Given the description of an element on the screen output the (x, y) to click on. 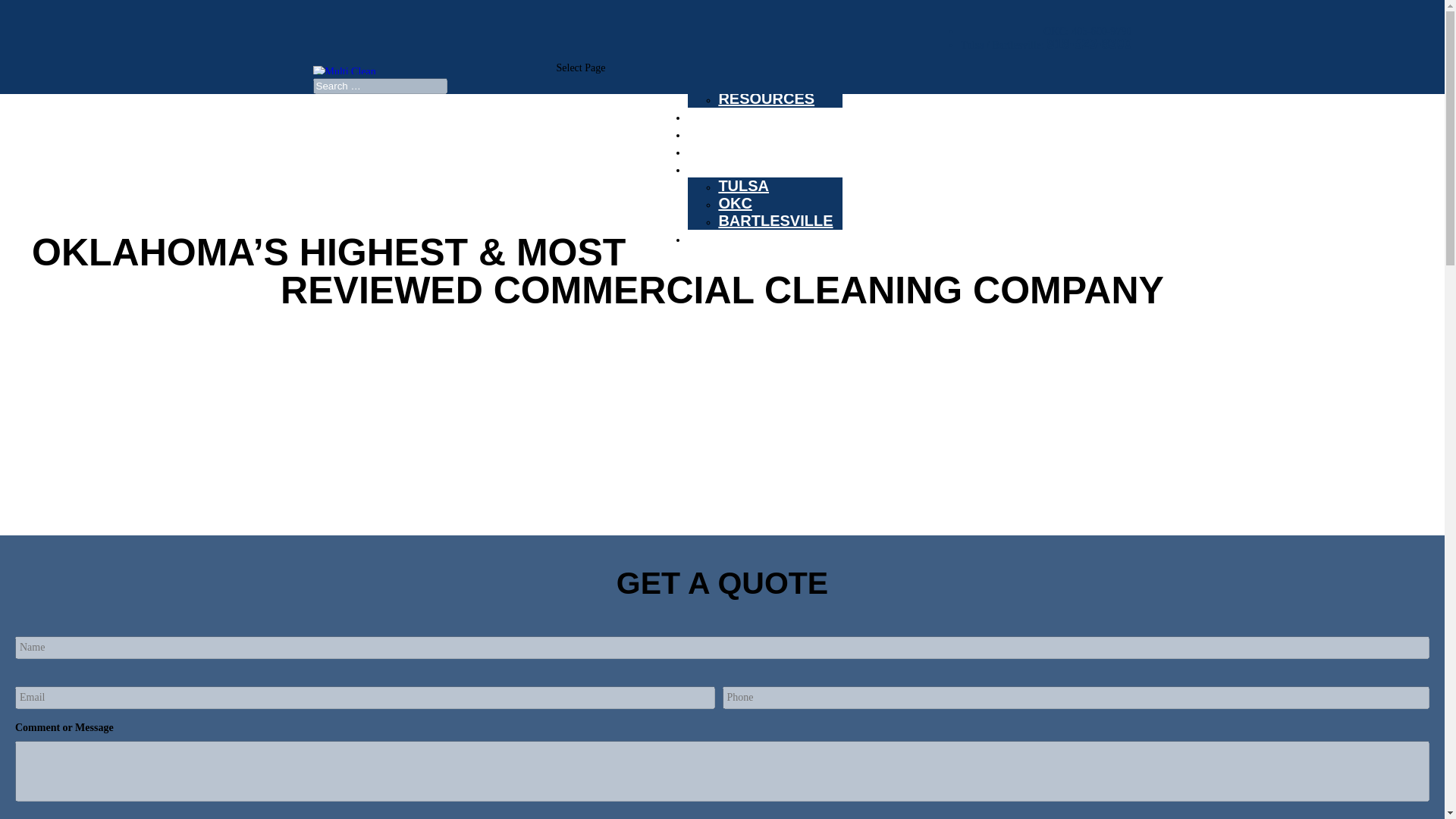
SERVICES (725, 121)
TESTIMONIALS (743, 139)
ABOUT (714, 86)
CONTACT US (736, 243)
BARTLESVILLE (774, 220)
Search for: (379, 85)
RESOURCES (765, 98)
OKC: 405-600-9790 (1087, 30)
LOCATIONS (731, 173)
918-523-8300 (1088, 43)
GALLERY (723, 156)
TULSA (742, 185)
OKC (734, 202)
